Given the description of an element on the screen output the (x, y) to click on. 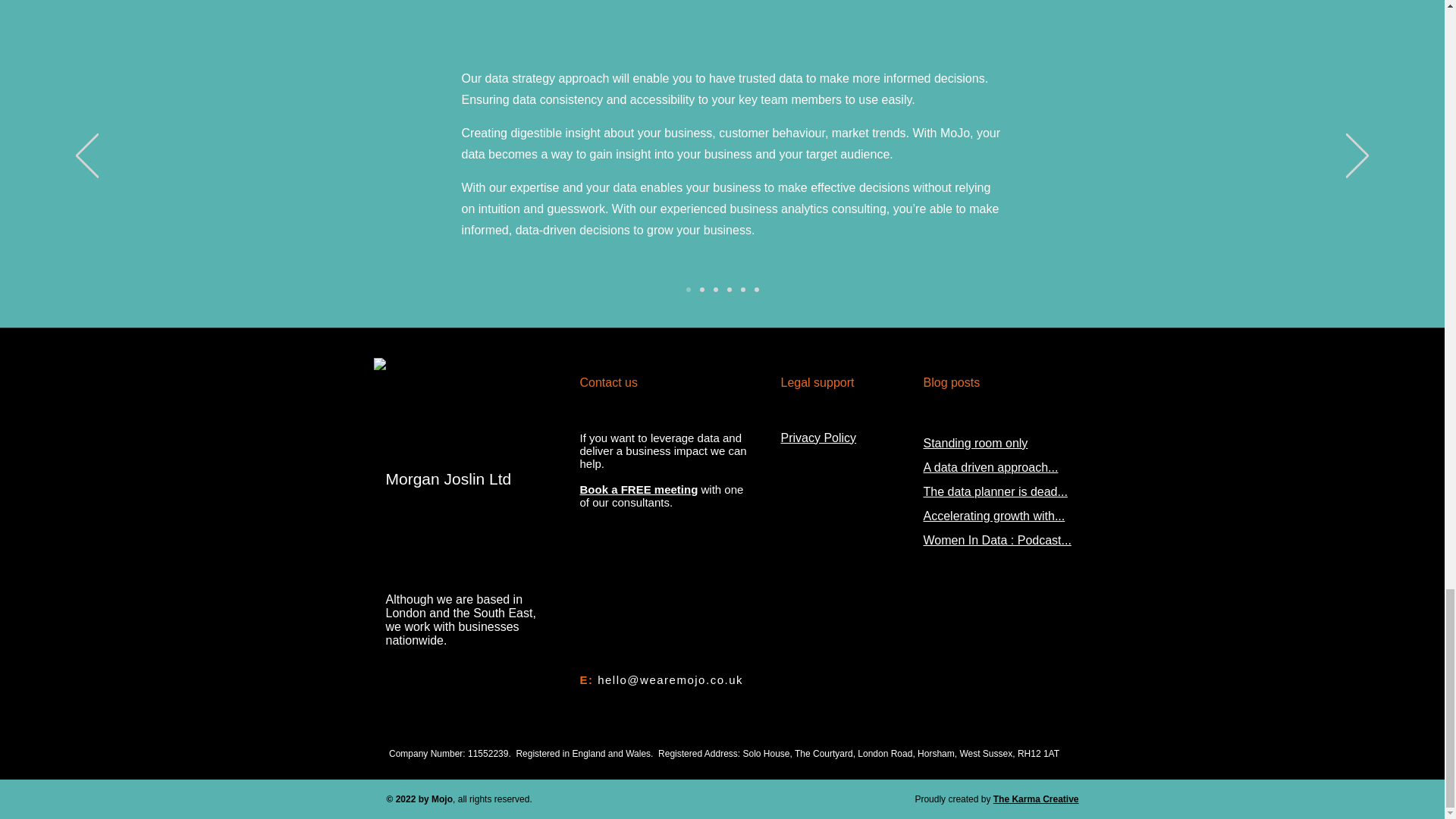
Blog posts (951, 382)
Contact us (608, 382)
Standing room only (975, 442)
Morgan Joslin Ltd (448, 478)
Legal support (817, 382)
Book a FREE meeting (638, 488)
A data driven approach... (990, 467)
Privacy Policy (818, 436)
